Given the description of an element on the screen output the (x, y) to click on. 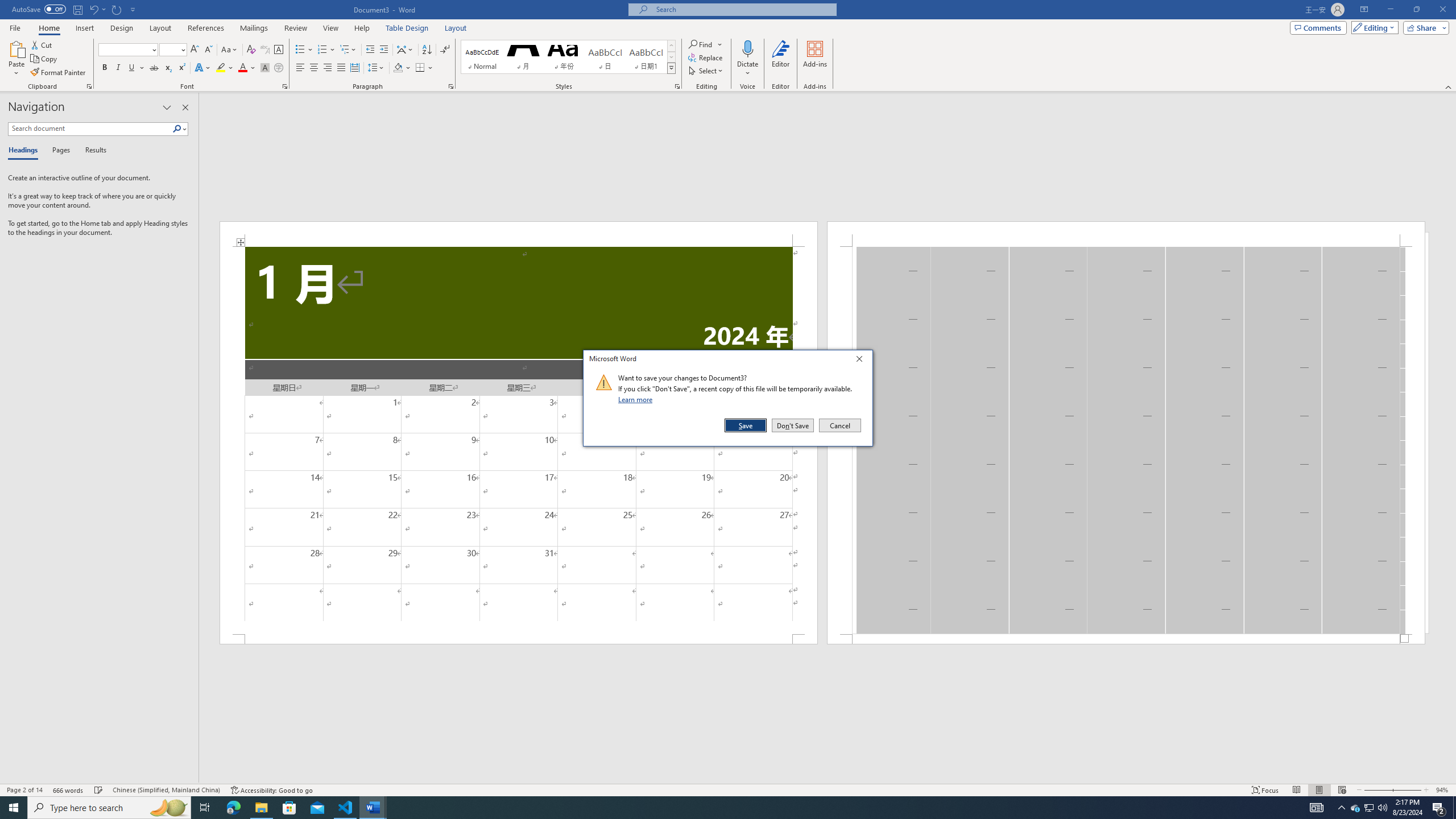
Clear Formatting (250, 49)
Cut (42, 44)
Undo Distribute Para (92, 9)
Asian Layout (405, 49)
Word - 2 running windows (373, 807)
Select (705, 69)
